Given the description of an element on the screen output the (x, y) to click on. 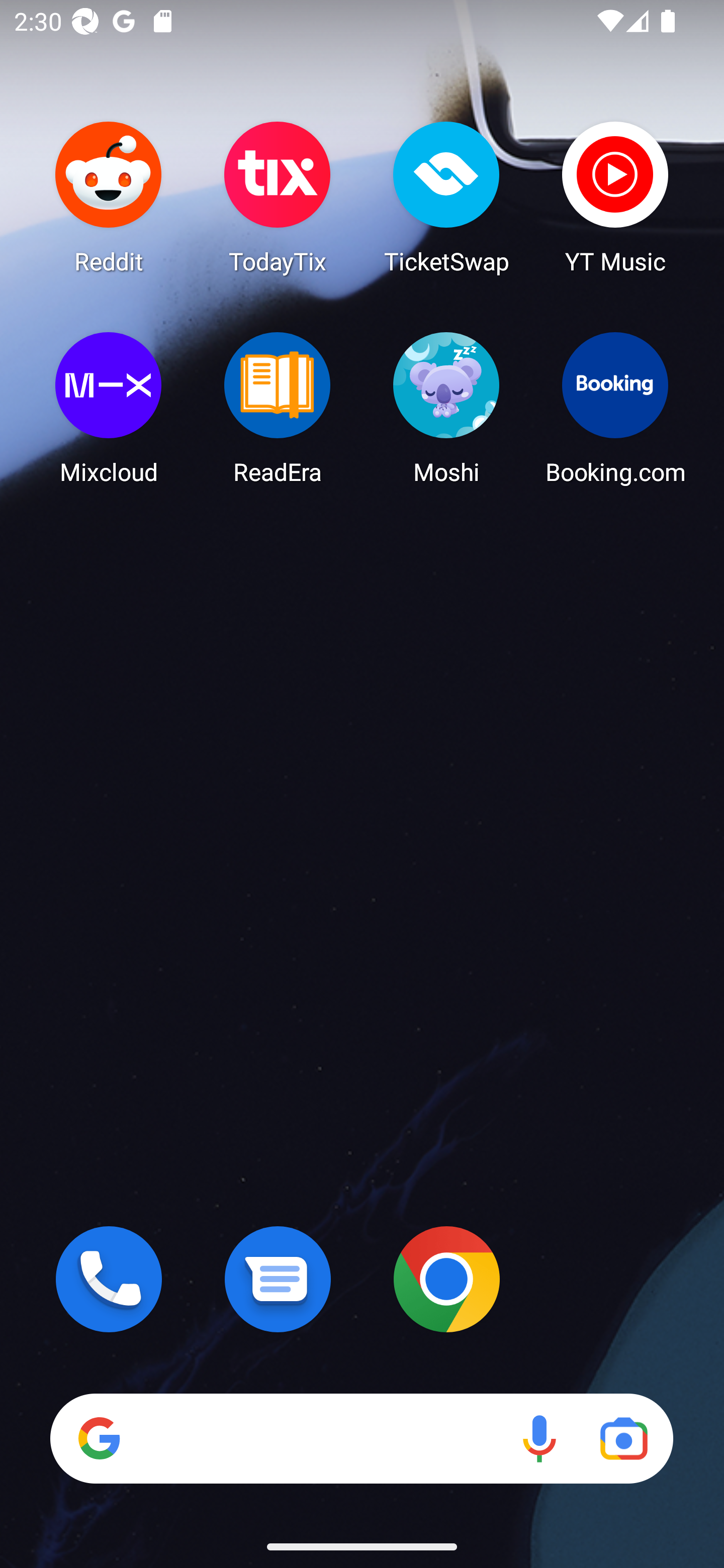
Reddit (108, 196)
TodayTix (277, 196)
TicketSwap (445, 196)
YT Music (615, 196)
Mixcloud (108, 407)
ReadEra (277, 407)
Moshi (445, 407)
Booking.com (615, 407)
Phone (108, 1279)
Messages (277, 1279)
Chrome (446, 1279)
Search Voice search Google Lens (361, 1438)
Voice search (539, 1438)
Google Lens (623, 1438)
